Given the description of an element on the screen output the (x, y) to click on. 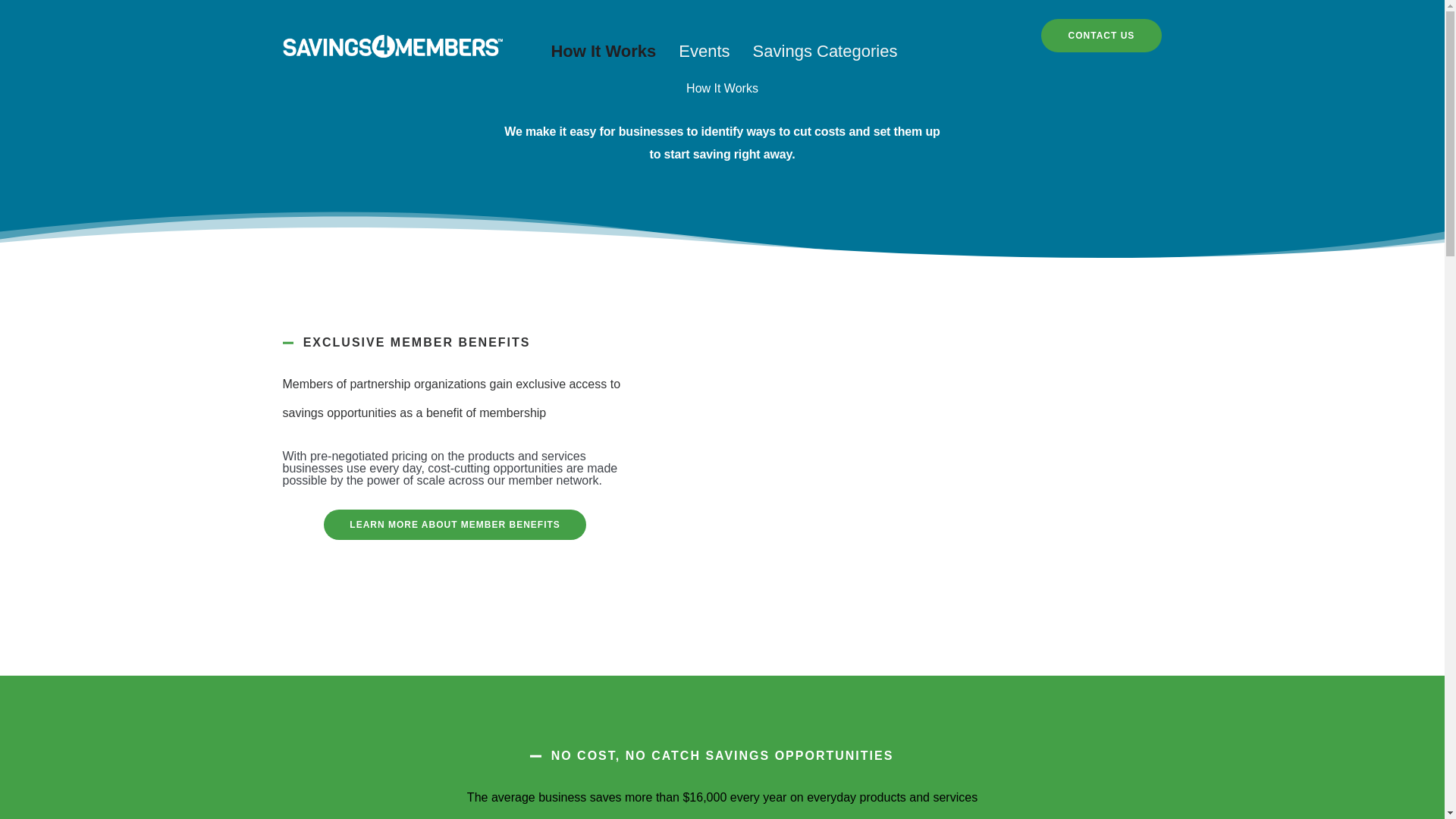
How It Works (603, 50)
Savings Categories (825, 50)
CONTACT US (1101, 35)
LEARN MORE ABOUT MEMBER BENEFITS (454, 524)
How It Works (603, 50)
Events (703, 50)
Savings Categories (825, 50)
Events (703, 50)
